Given the description of an element on the screen output the (x, y) to click on. 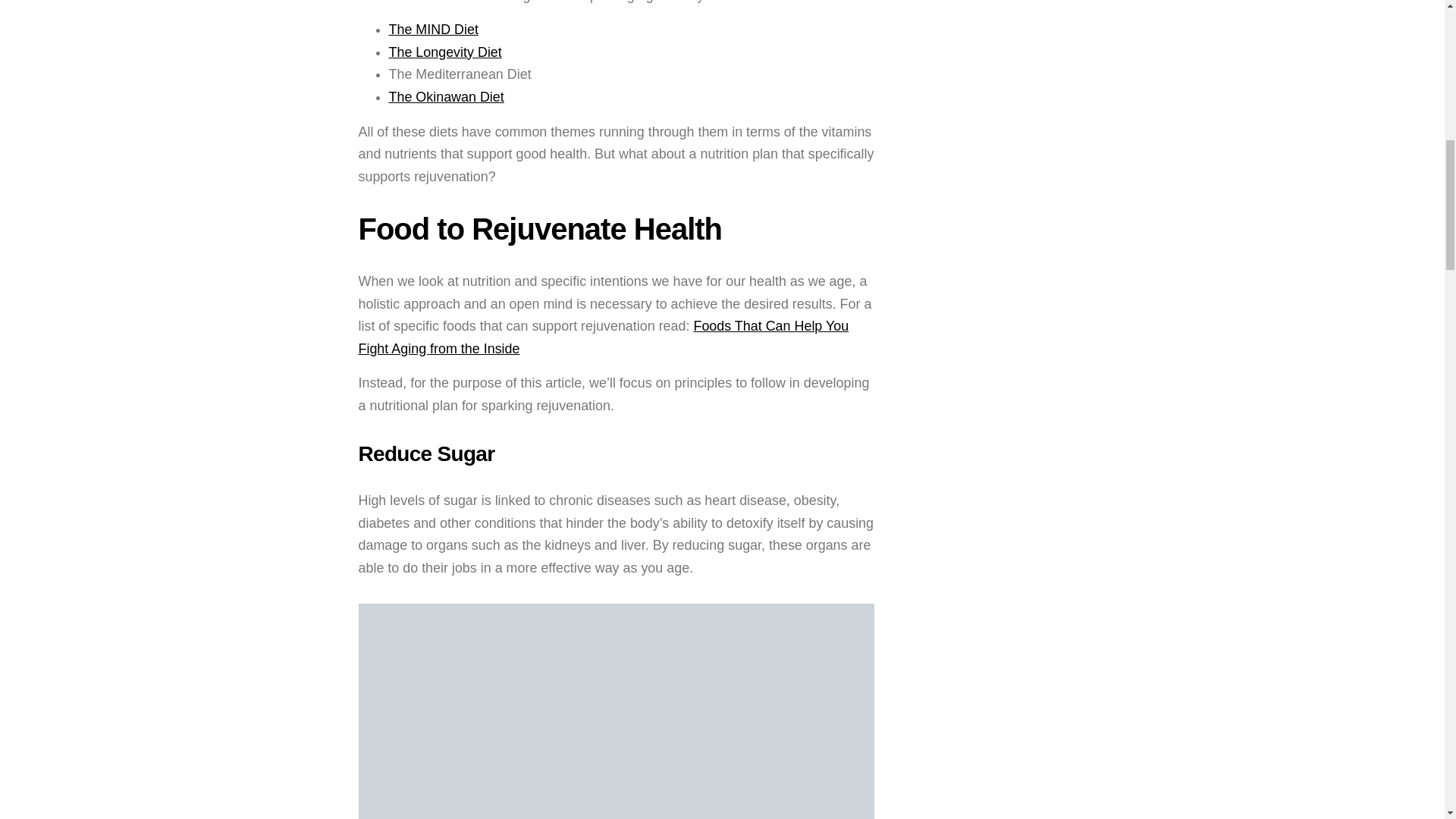
The Longevity Diet (444, 52)
The MIND Diet (432, 29)
Foods That Can Help You Fight Aging from the Inside (603, 337)
The Okinawan Diet (445, 96)
